Given the description of an element on the screen output the (x, y) to click on. 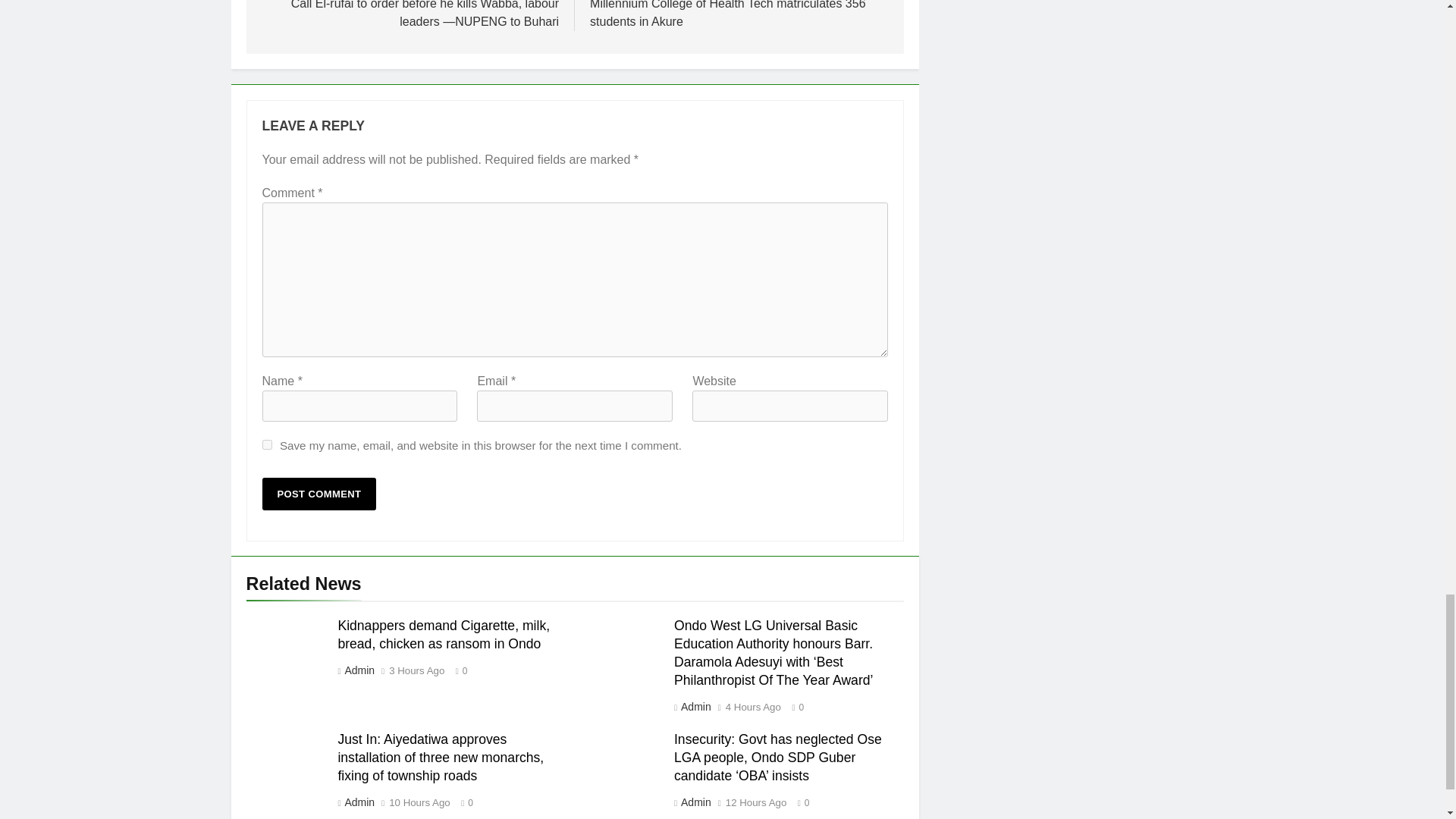
yes (267, 444)
Post Comment (319, 493)
